Given the description of an element on the screen output the (x, y) to click on. 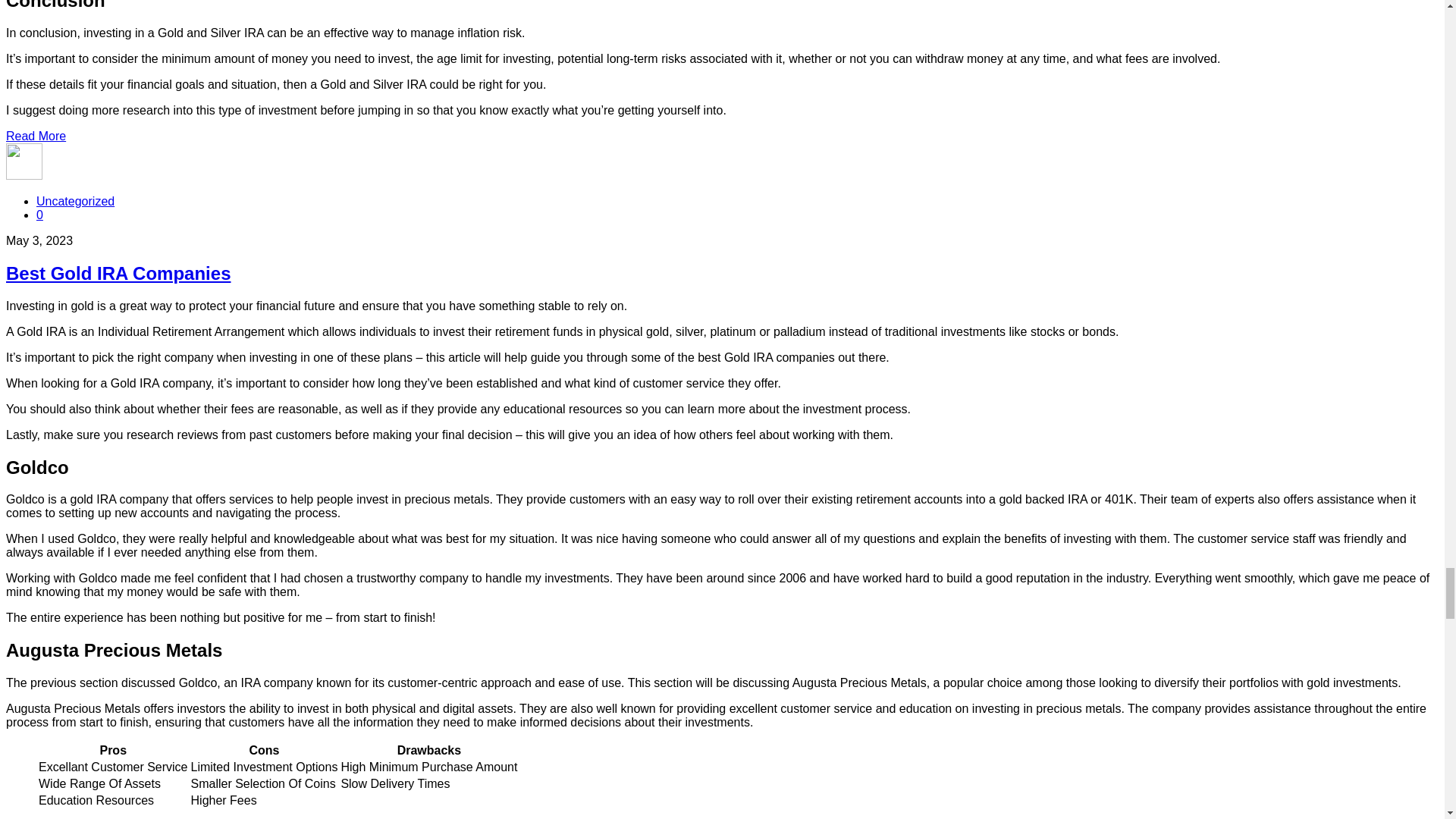
Best Gold IRA Companies (117, 272)
Read More (35, 135)
0 (39, 214)
Uncategorized (75, 201)
